Given the description of an element on the screen output the (x, y) to click on. 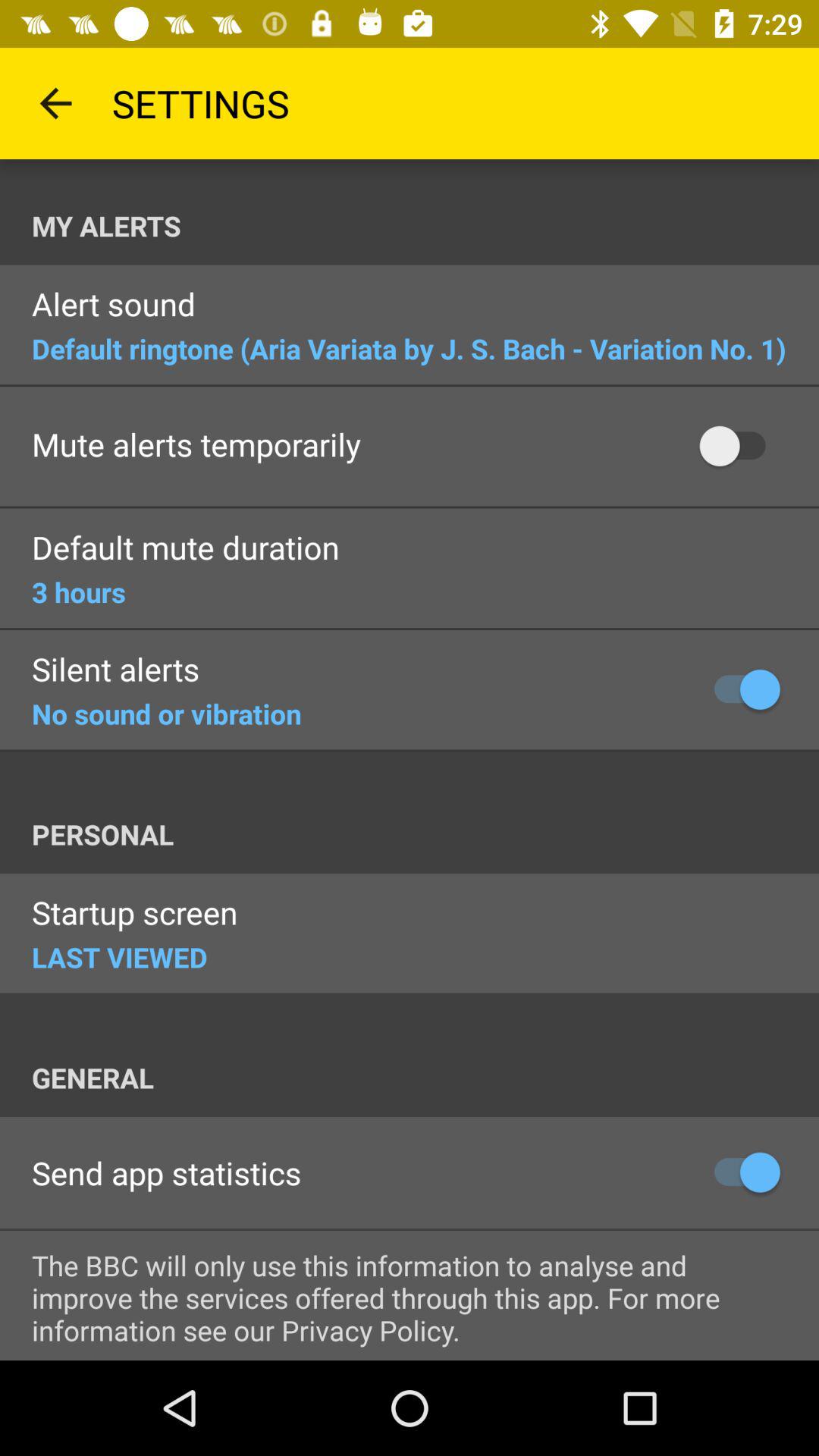
tap personal at the center (425, 834)
